Given the description of an element on the screen output the (x, y) to click on. 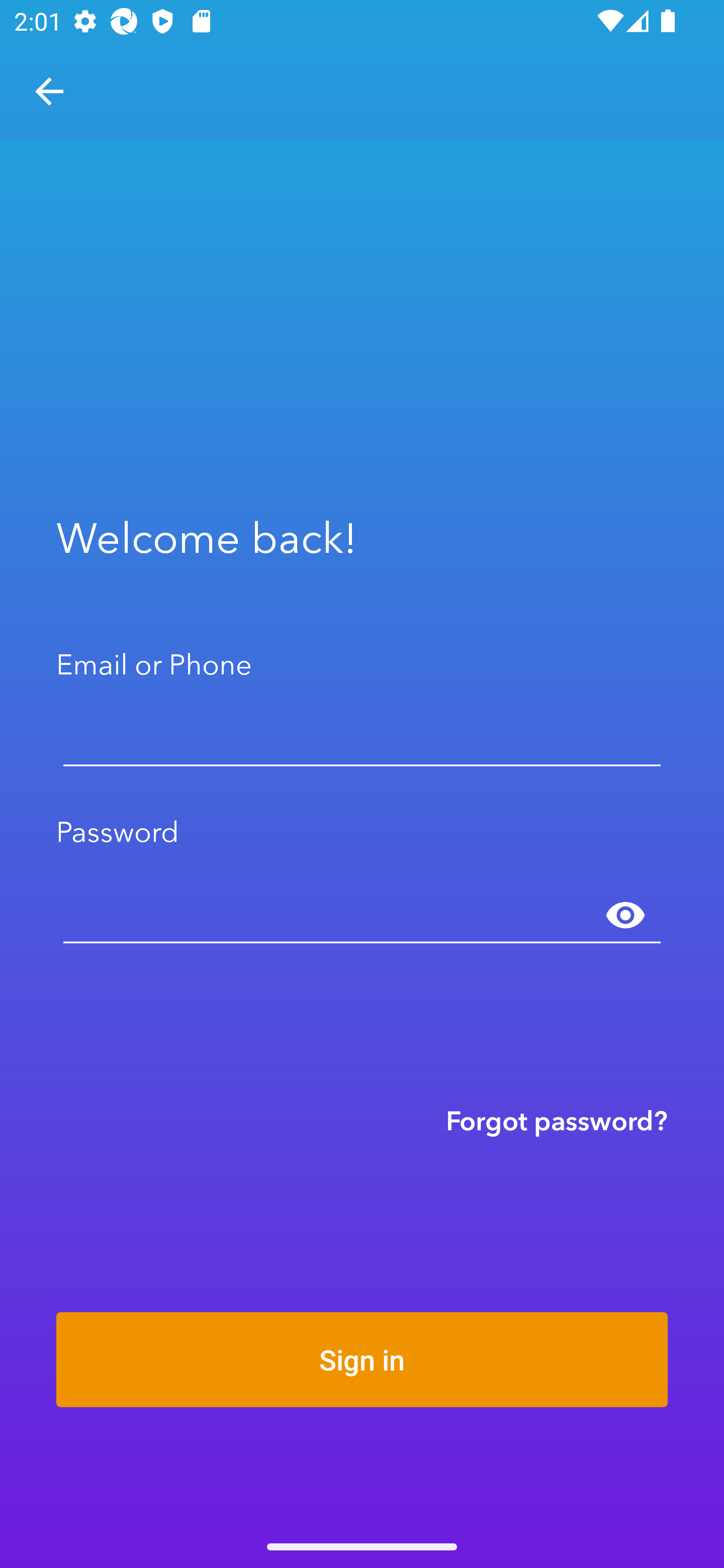
Navigate up (49, 91)
Show password (625, 915)
Forgot password? (556, 1119)
Sign in (361, 1359)
